Given the description of an element on the screen output the (x, y) to click on. 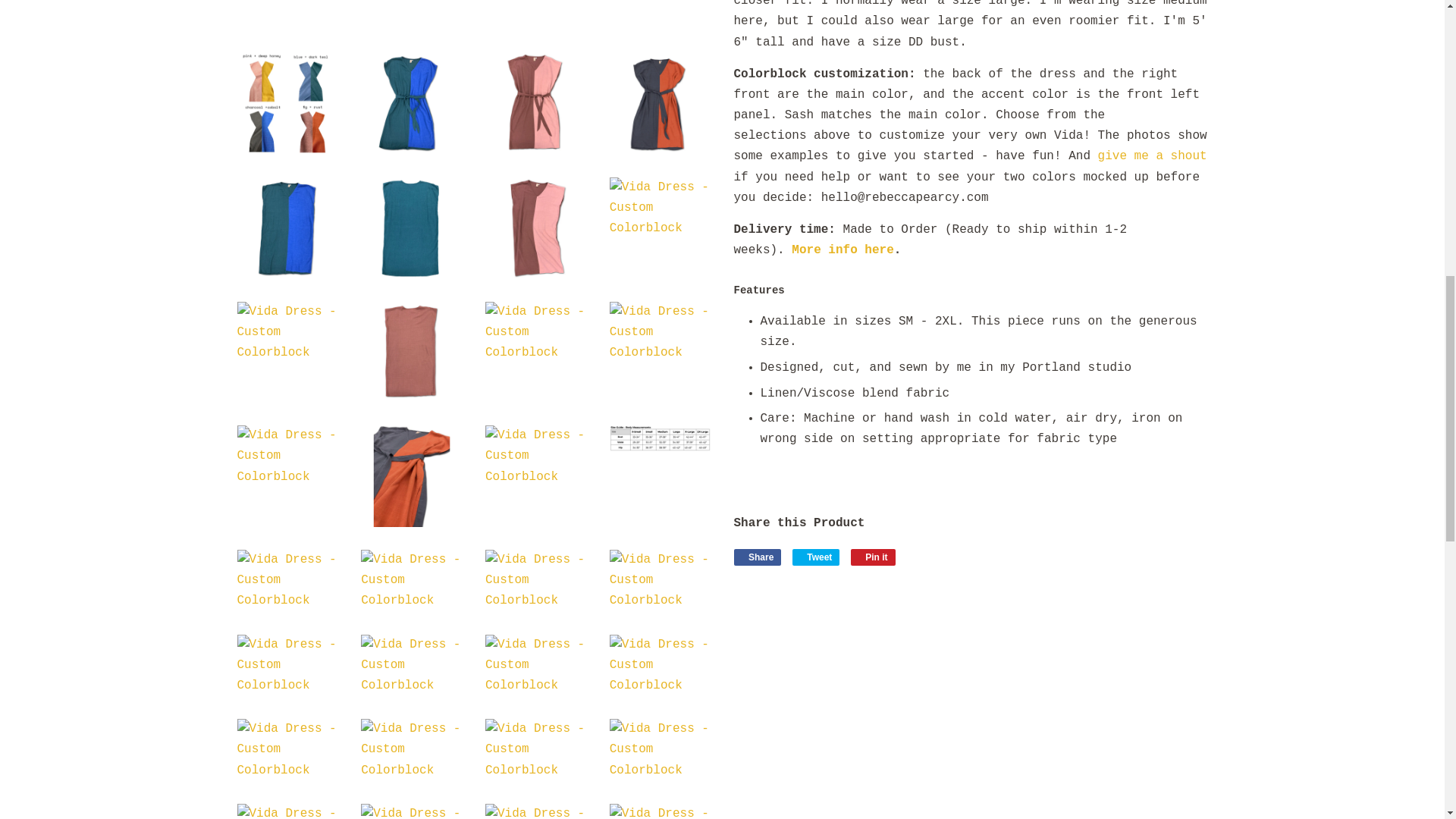
Tweet on Twitter (816, 556)
Share on Facebook (757, 556)
Pin on Pinterest (872, 556)
